Given the description of an element on the screen output the (x, y) to click on. 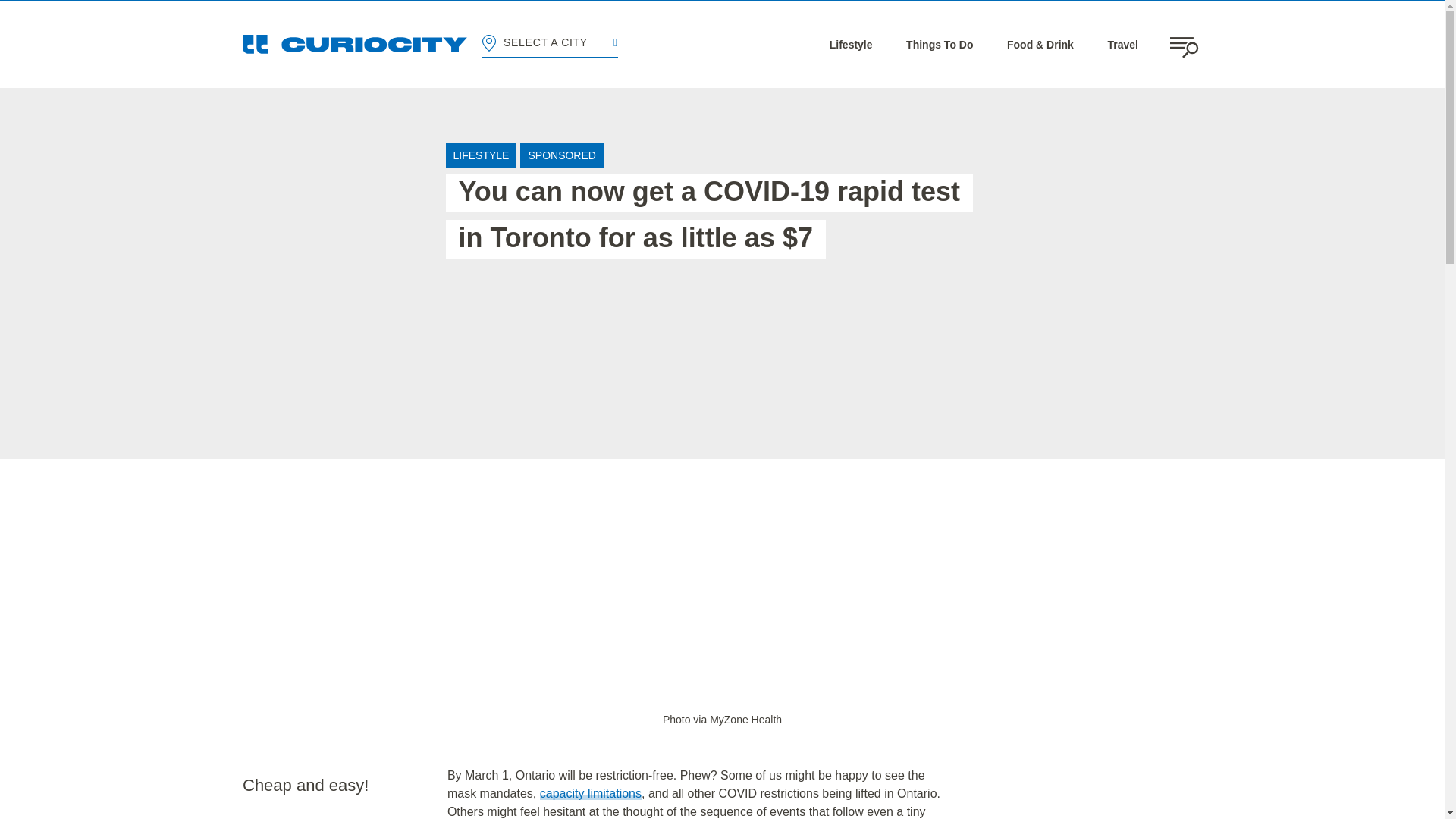
Travel (1121, 44)
Lifestyle (850, 44)
goes to Home (355, 43)
curiocity-primary-logo-blue  (355, 44)
Things To Do (938, 44)
SELECT A CITY (549, 44)
